Given the description of an element on the screen output the (x, y) to click on. 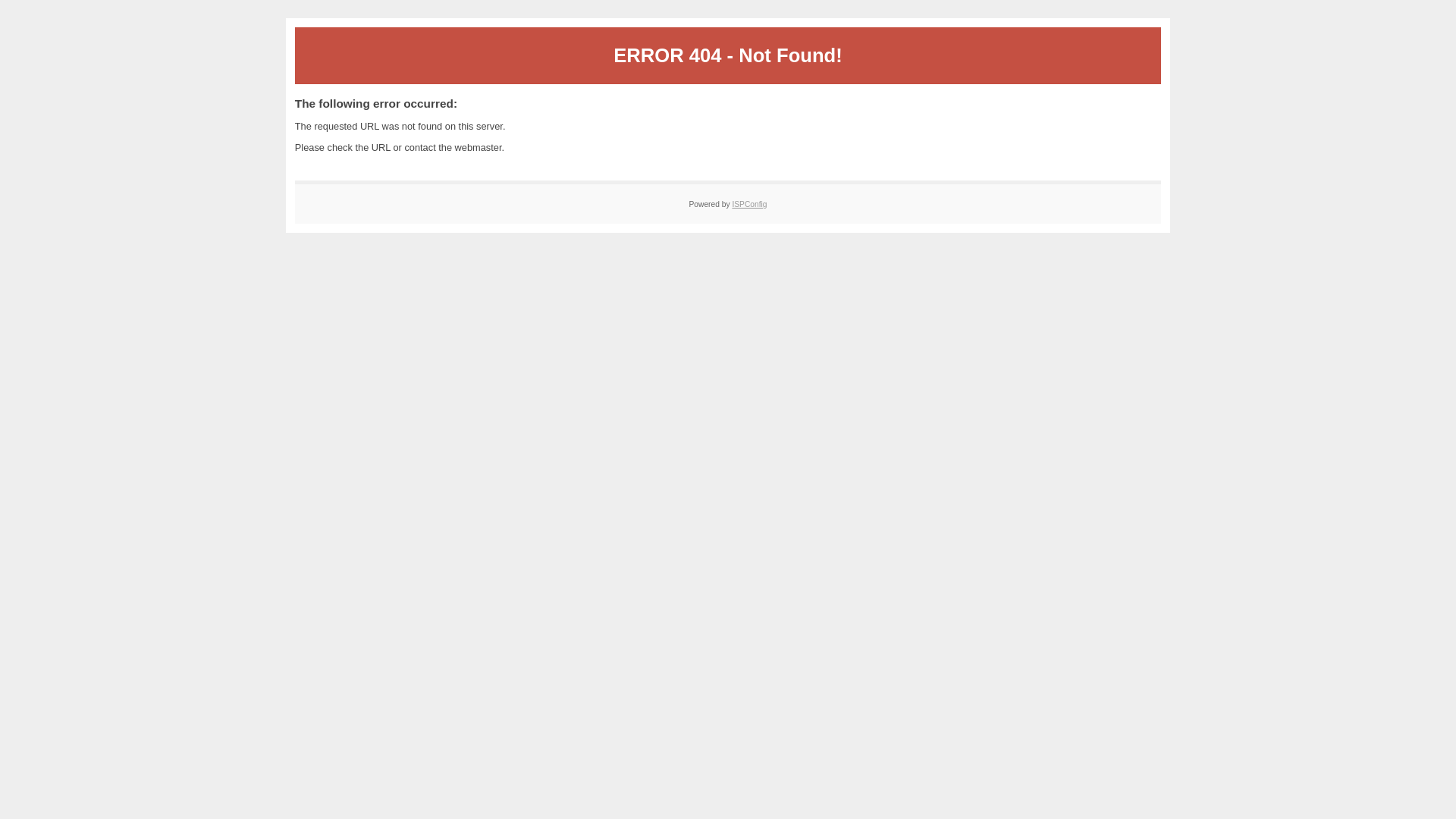
ISPConfig Element type: text (748, 204)
